Given the description of an element on the screen output the (x, y) to click on. 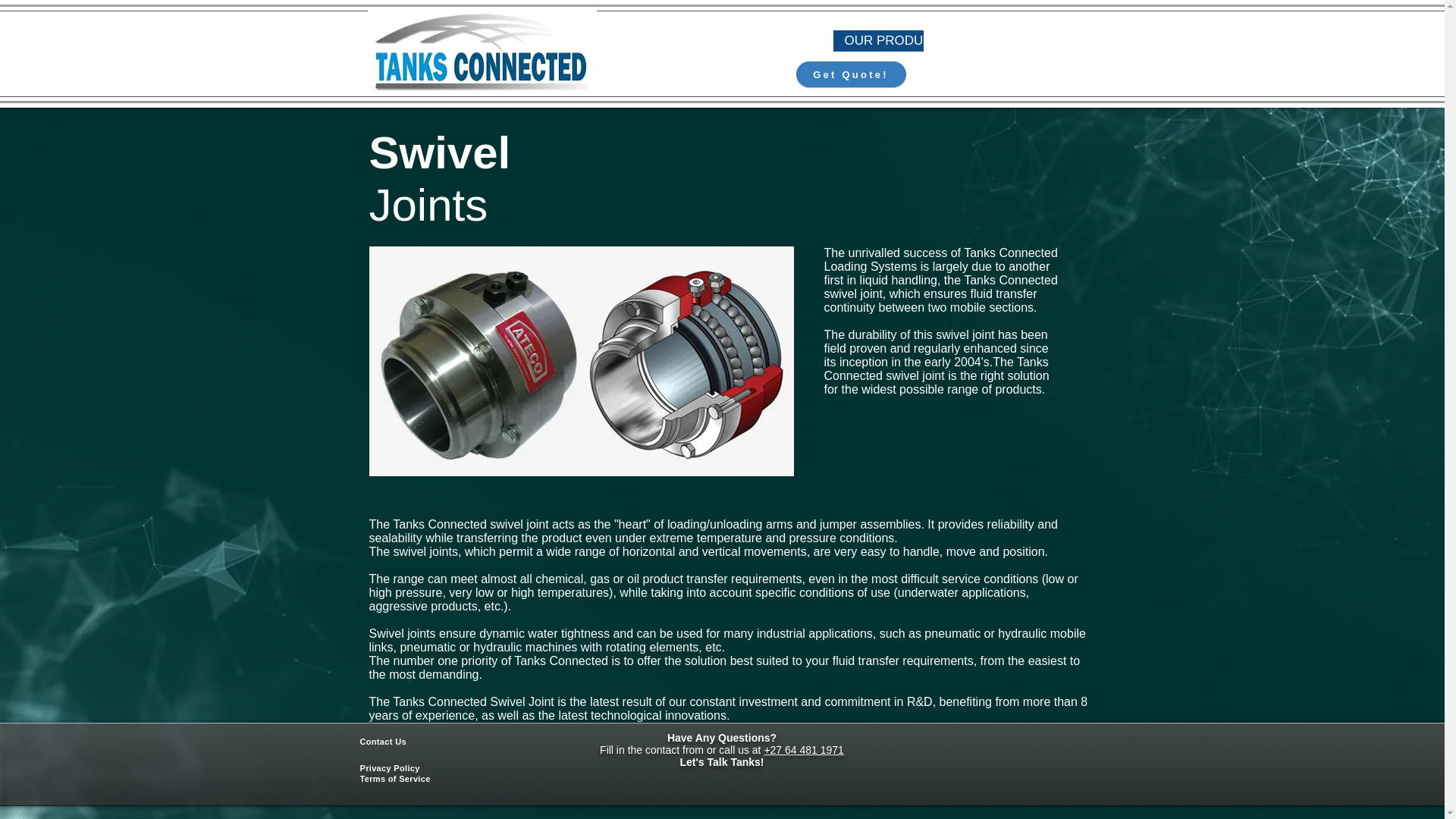
Privacy Policy (389, 768)
Get Quote! (850, 73)
Contact Us (382, 741)
Terms of Service (394, 777)
APPLICATIONS (966, 40)
OUR PRODUCTS (877, 40)
HOME (741, 40)
PROJECTS (798, 40)
